Given the description of an element on the screen output the (x, y) to click on. 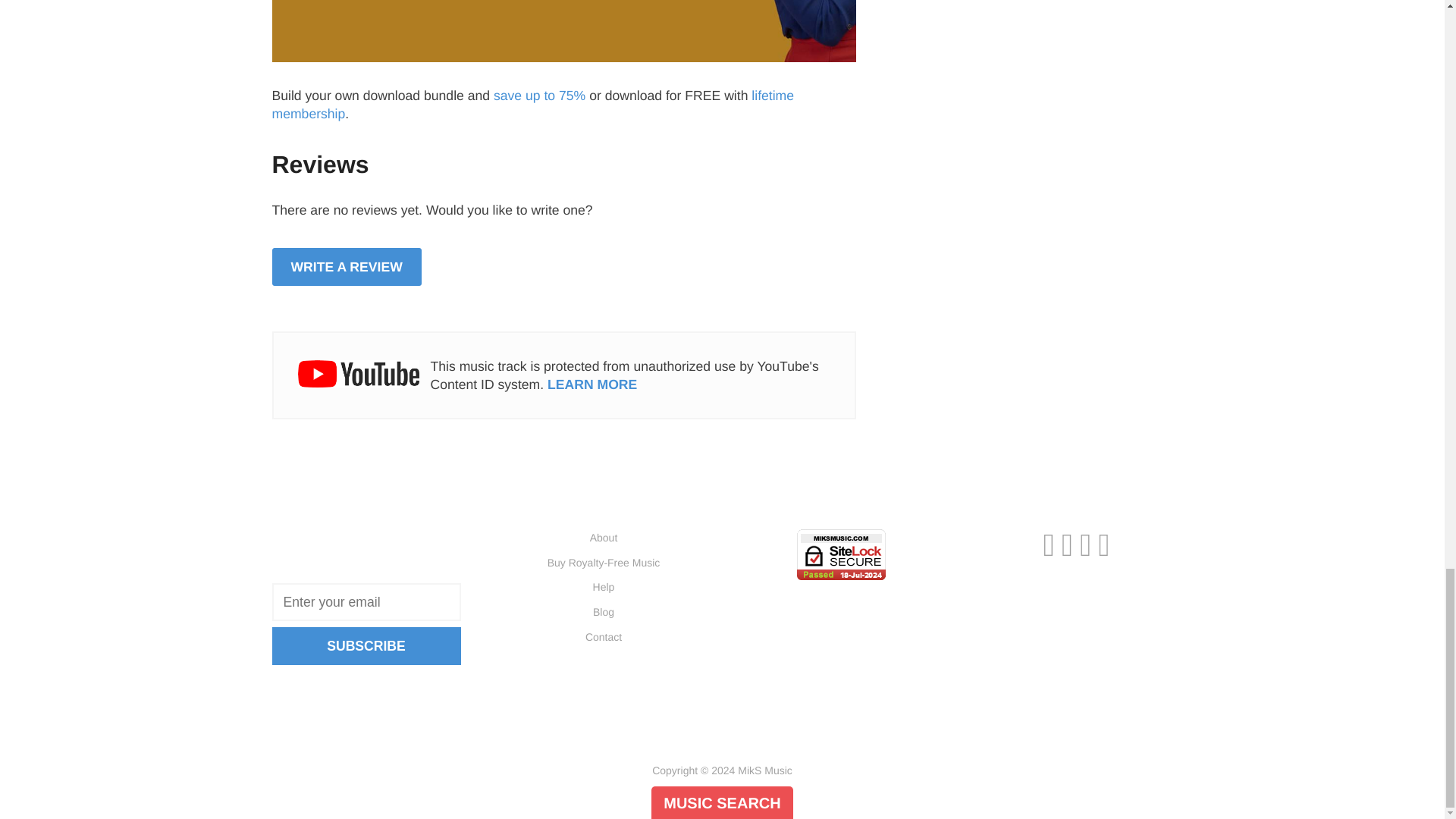
Build your own download bundle and save (563, 51)
SUBSCRIBE (365, 646)
